Given the description of an element on the screen output the (x, y) to click on. 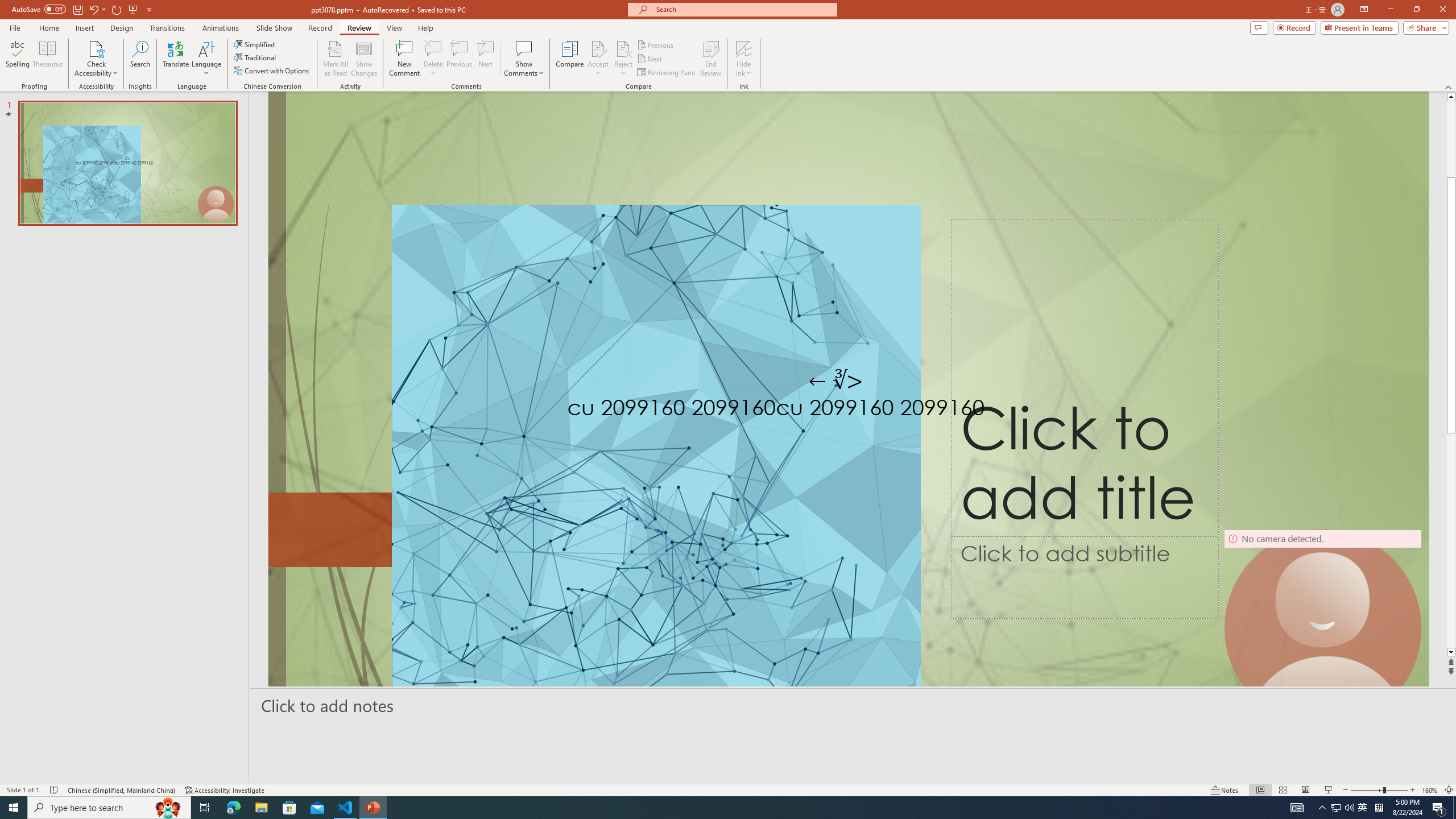
Delete (432, 48)
New Comment (403, 58)
Mark All as Read (335, 58)
TextBox 61 (845, 410)
Convert with Options... (272, 69)
Reviewing Pane (666, 72)
Reject Change (622, 48)
Spelling... (17, 58)
